Given the description of an element on the screen output the (x, y) to click on. 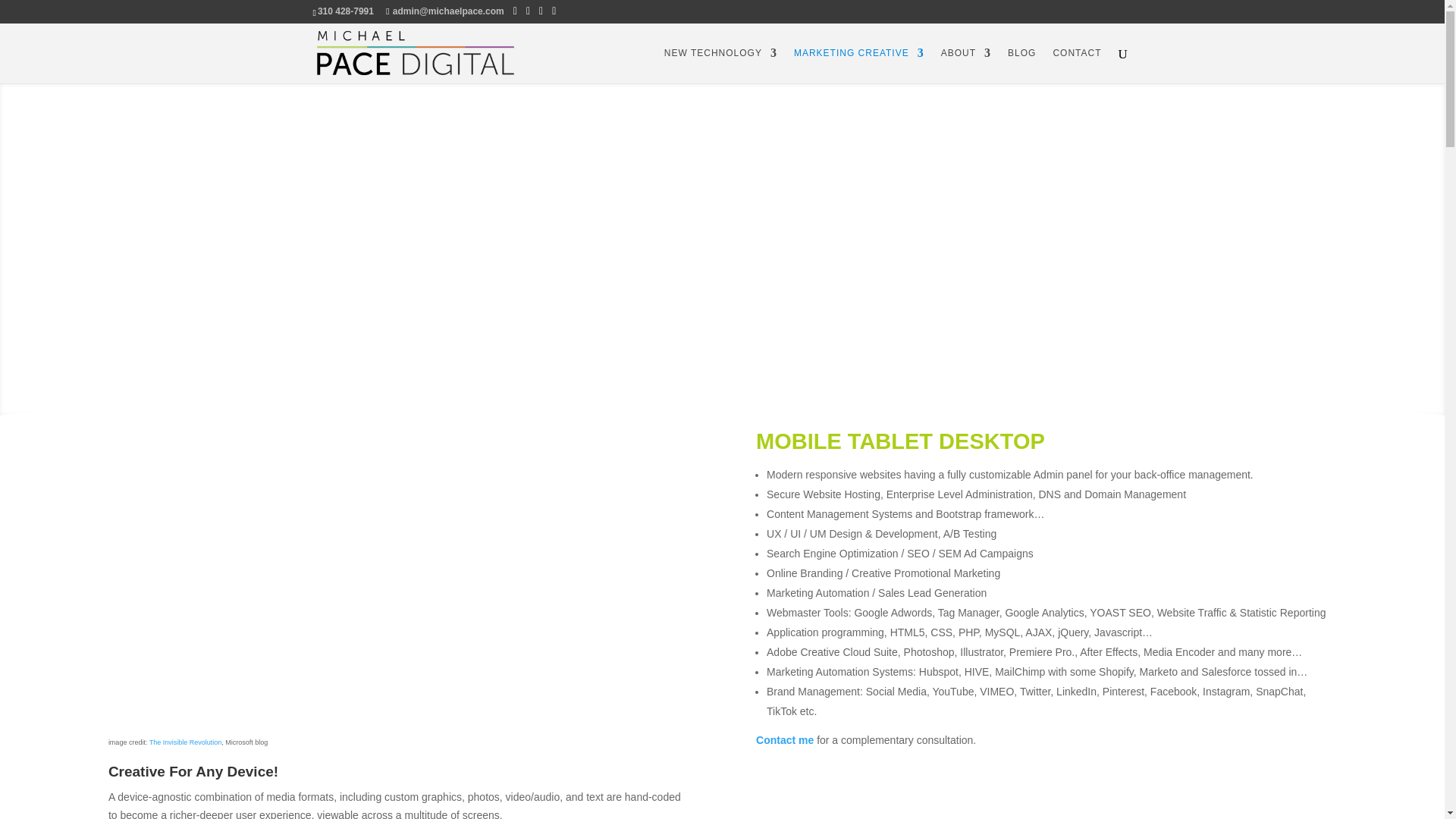
The Invisible Revolution (185, 742)
MARKETING CREATIVE (858, 65)
310 428-7991 (345, 10)
ABOUT (965, 65)
Contact PACE digital Web Content Specialist (1076, 65)
CONTACT (1076, 65)
Contact me (784, 739)
NEW TECHNOLOGY (720, 65)
